Given the description of an element on the screen output the (x, y) to click on. 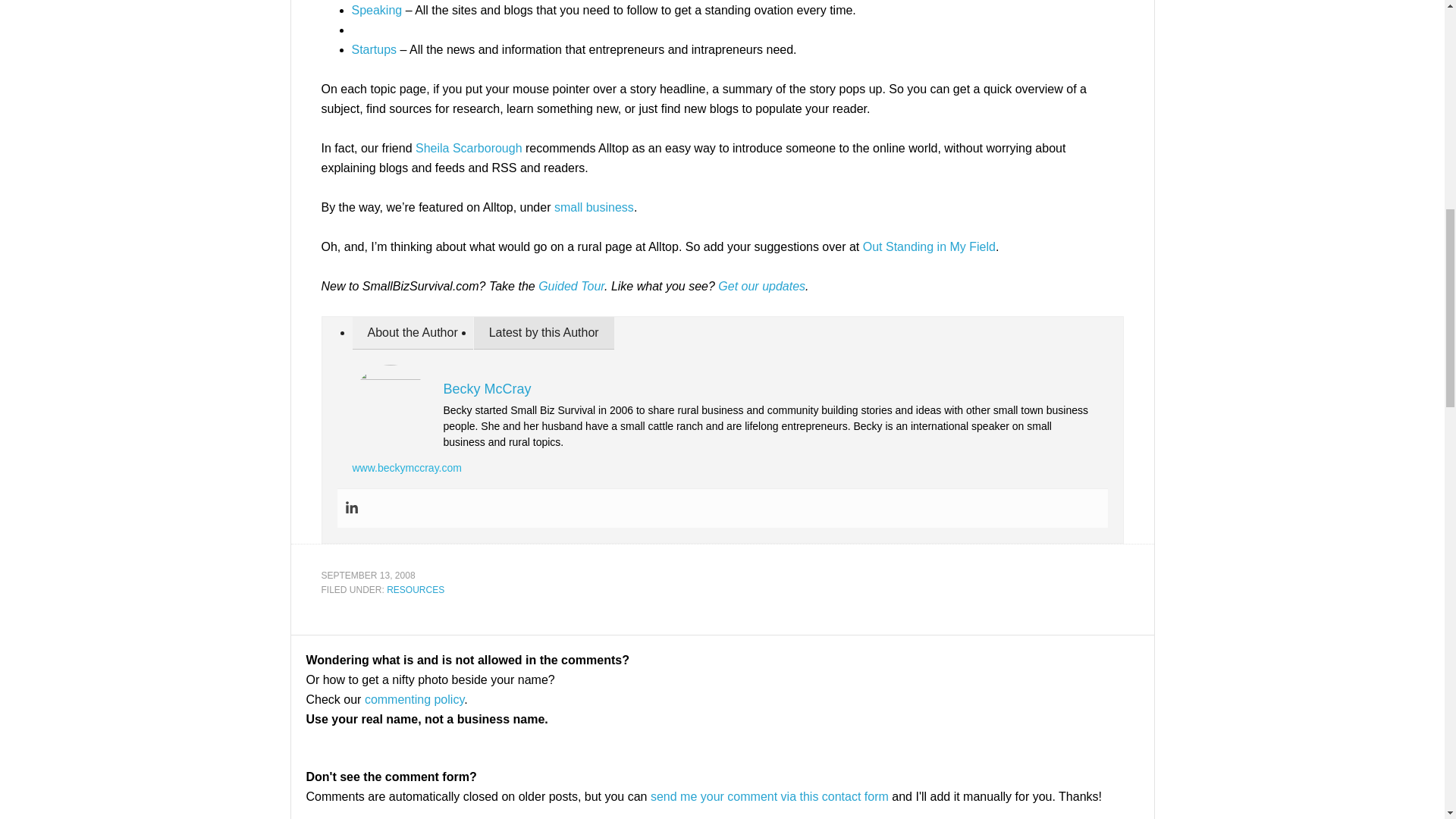
Get our updates (761, 286)
www.beckymccray.com (406, 467)
Guided Tour (571, 286)
Linkedin (350, 508)
Sheila Scarborough (468, 147)
small business (593, 206)
Speaking (377, 10)
Becky McCray (486, 388)
Out Standing in My Field (929, 246)
Startups (374, 49)
